Given the description of an element on the screen output the (x, y) to click on. 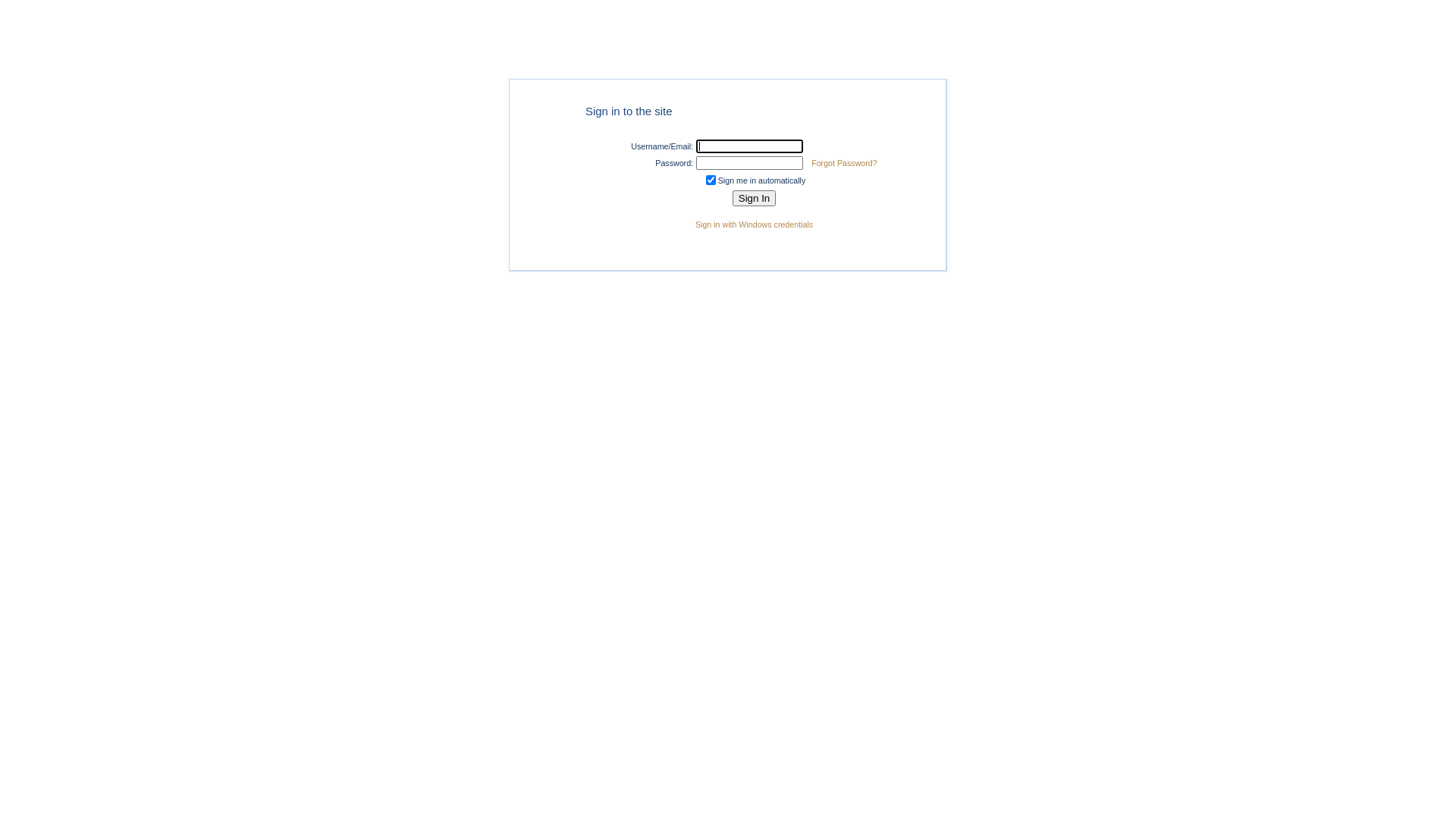
Sign In Element type: text (754, 198)
Forgot Password? Element type: text (843, 162)
Sign in with Windows credentials Element type: text (753, 224)
